Given the description of an element on the screen output the (x, y) to click on. 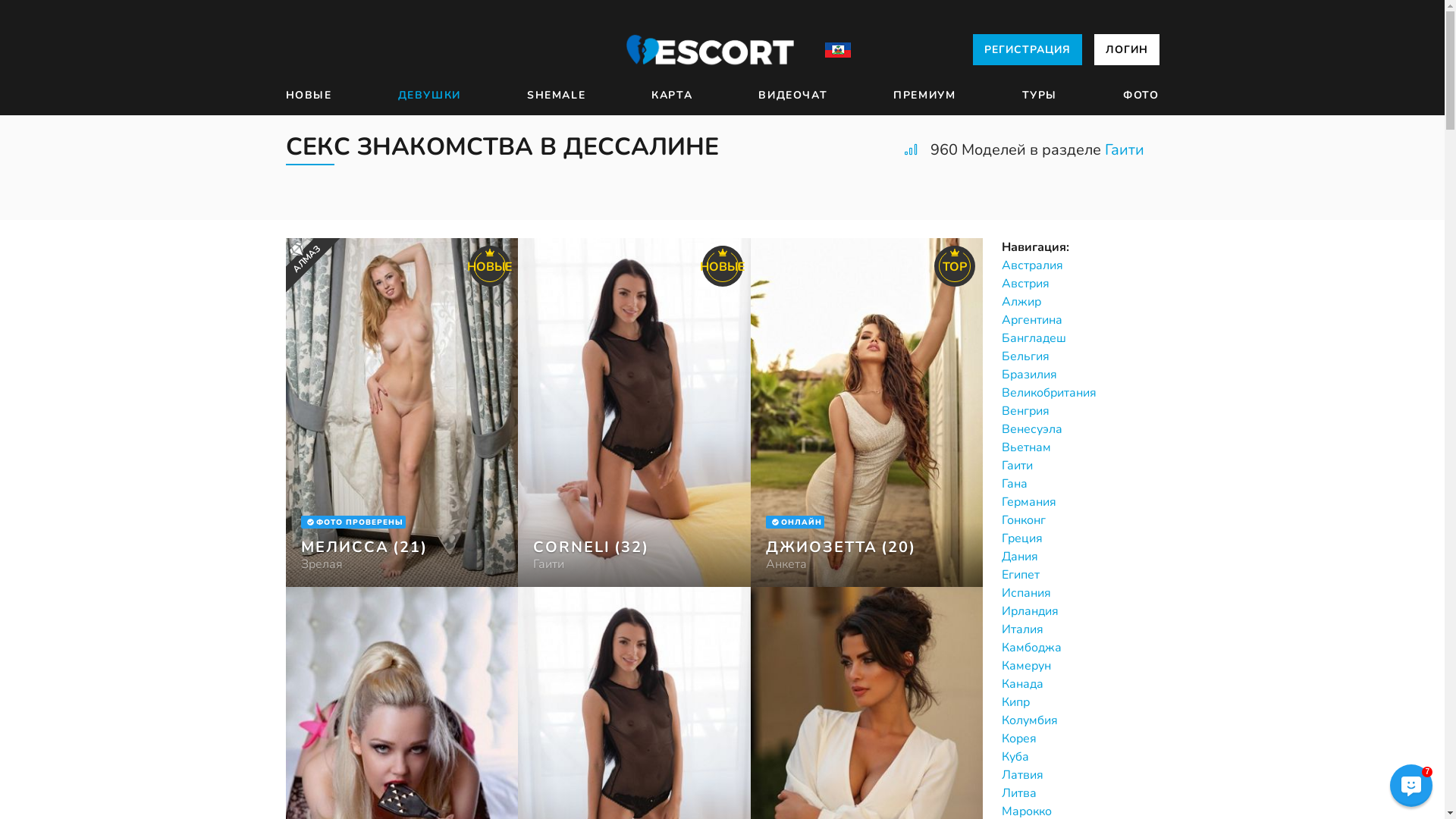
SHEMALE Element type: text (556, 95)
7 Element type: text (1411, 785)
